Given the description of an element on the screen output the (x, y) to click on. 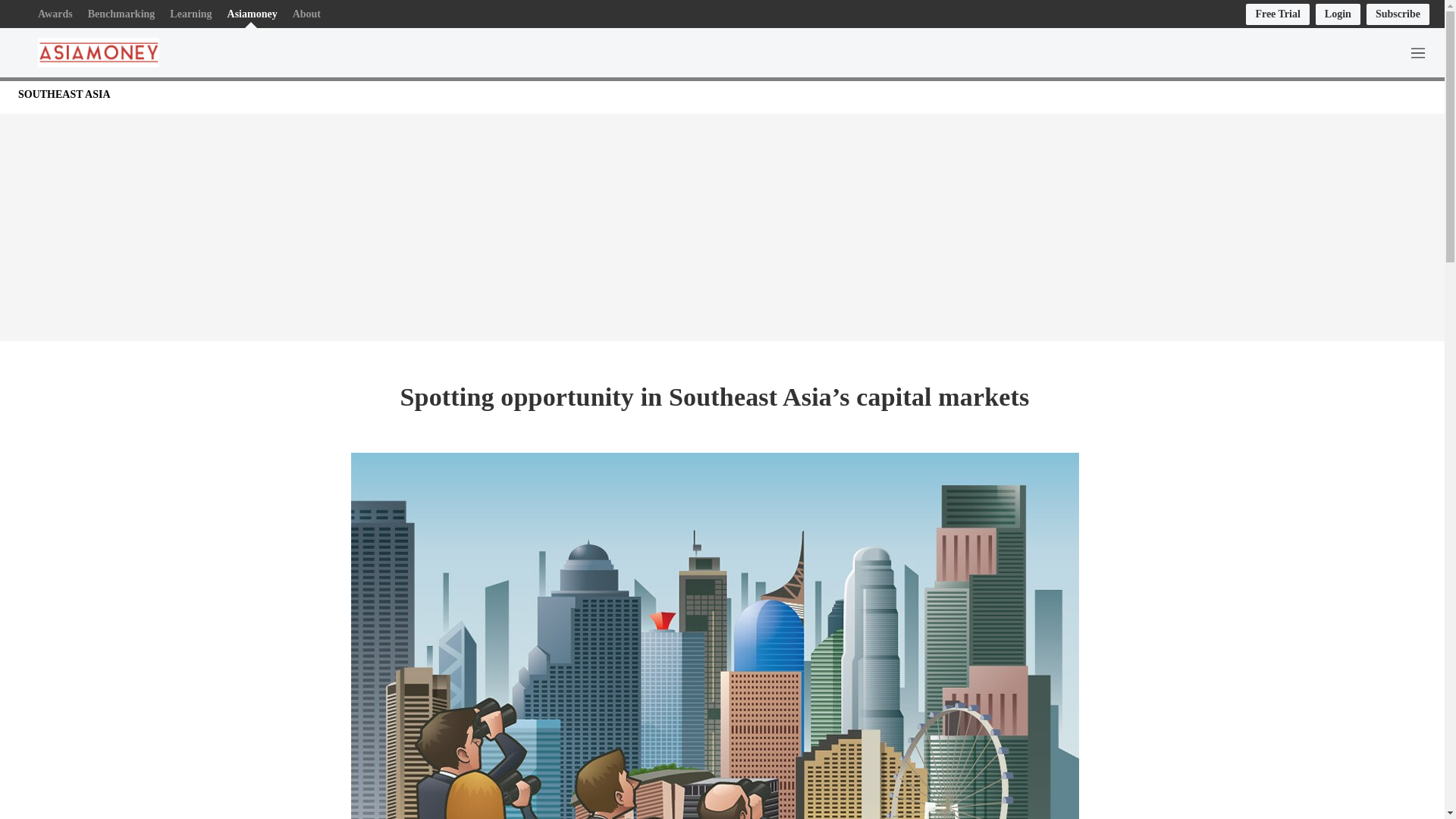
Benchmarking (121, 13)
Learning (190, 13)
Login (1337, 13)
About (306, 13)
Awards (54, 13)
Free Trial (1277, 13)
Subscribe (1398, 13)
Menu (1421, 52)
Asiamoney (252, 13)
